Given the description of an element on the screen output the (x, y) to click on. 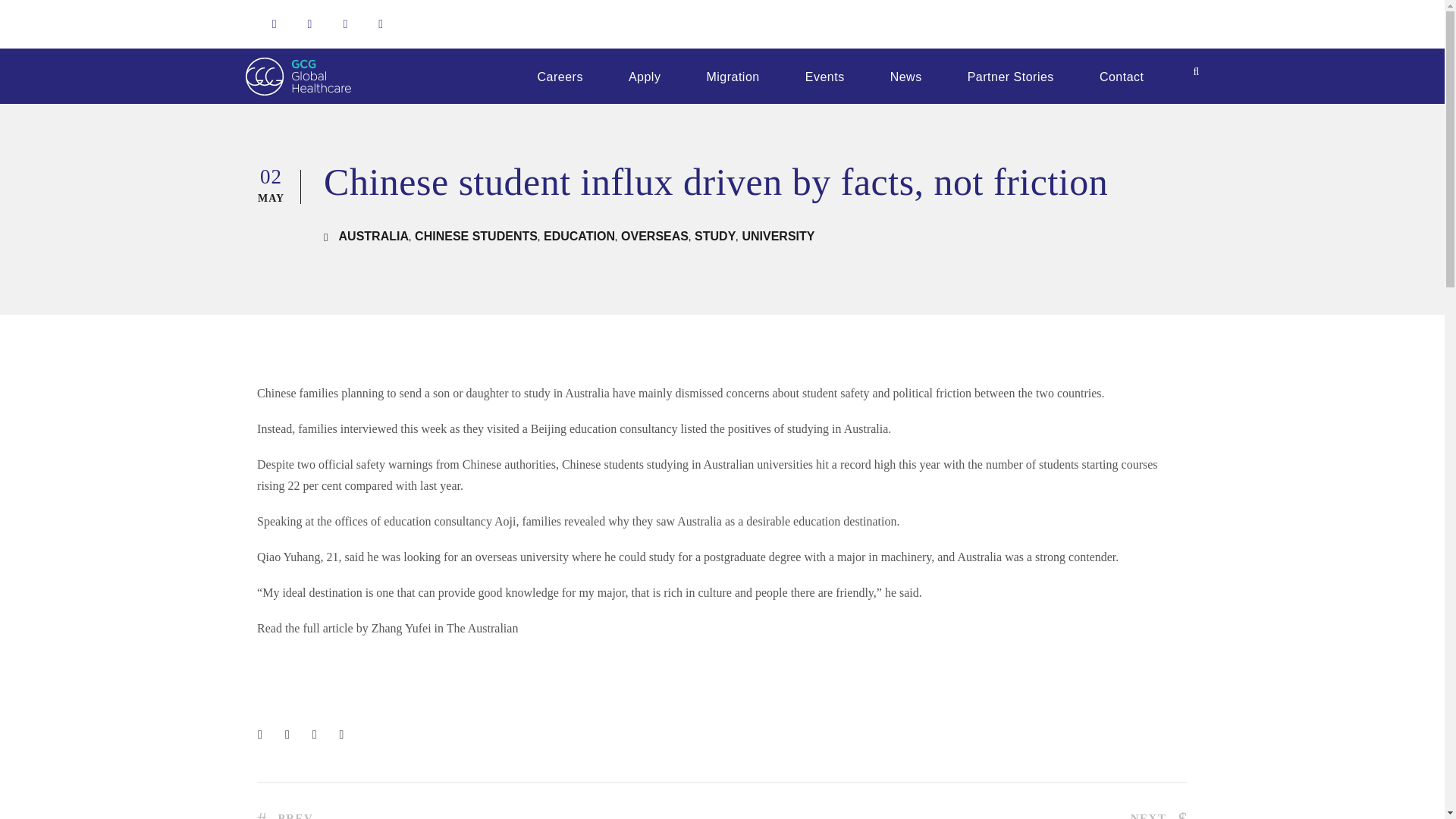
Migration (731, 65)
Latest news from GCG Global Healthcare (905, 65)
Upcoming Events Calendar (825, 65)
Contact GCG Global Healthcare today (1122, 65)
UNIVERSITY (777, 236)
CHINESE STUDENTS (475, 236)
NEXT (1159, 815)
Careers (559, 65)
News (905, 65)
How to APPLY for positions in Australia (644, 65)
